Given the description of an element on the screen output the (x, y) to click on. 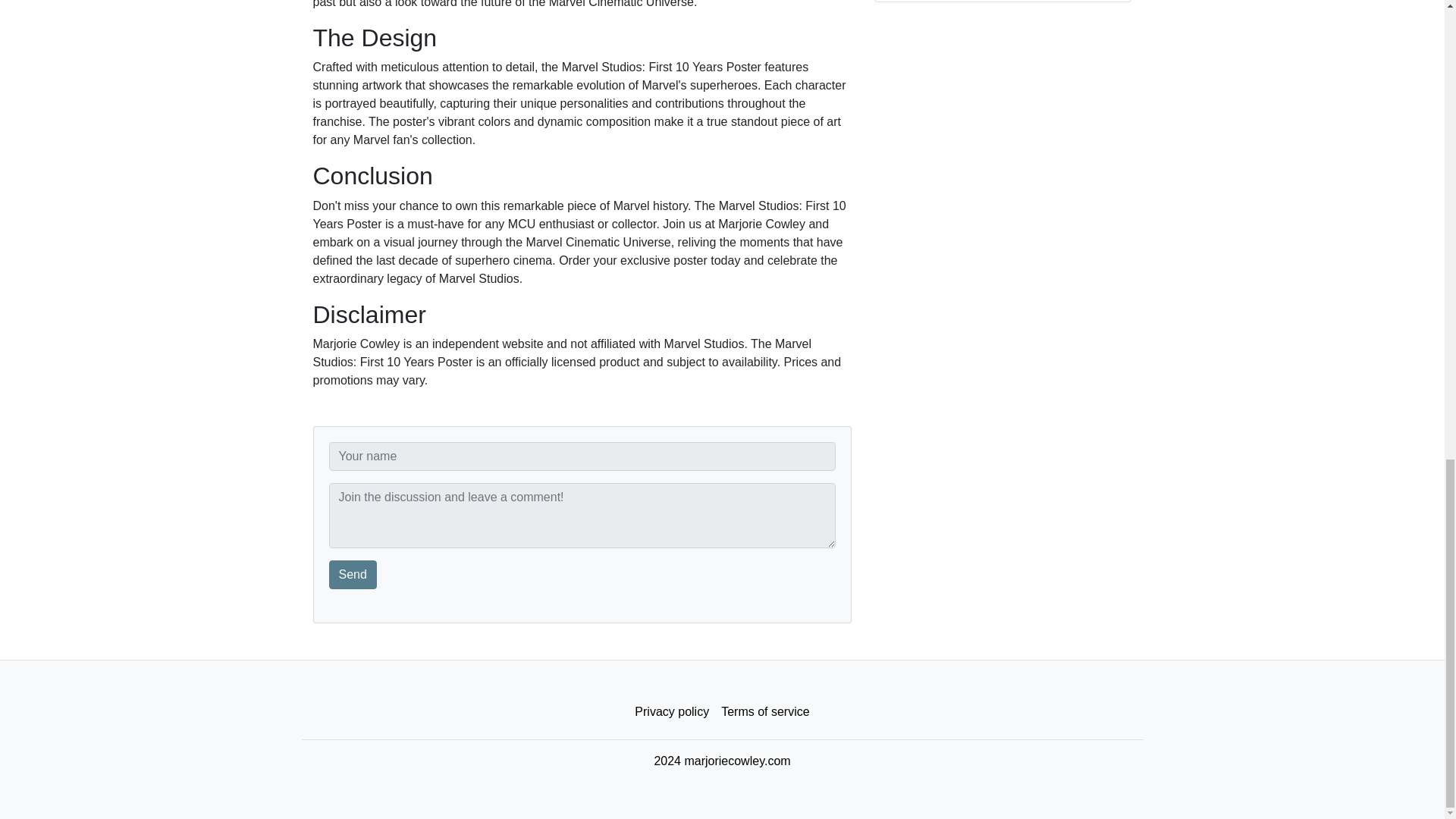
Privacy policy (671, 711)
Send (353, 574)
Send (353, 574)
Terms of service (764, 711)
